Given the description of an element on the screen output the (x, y) to click on. 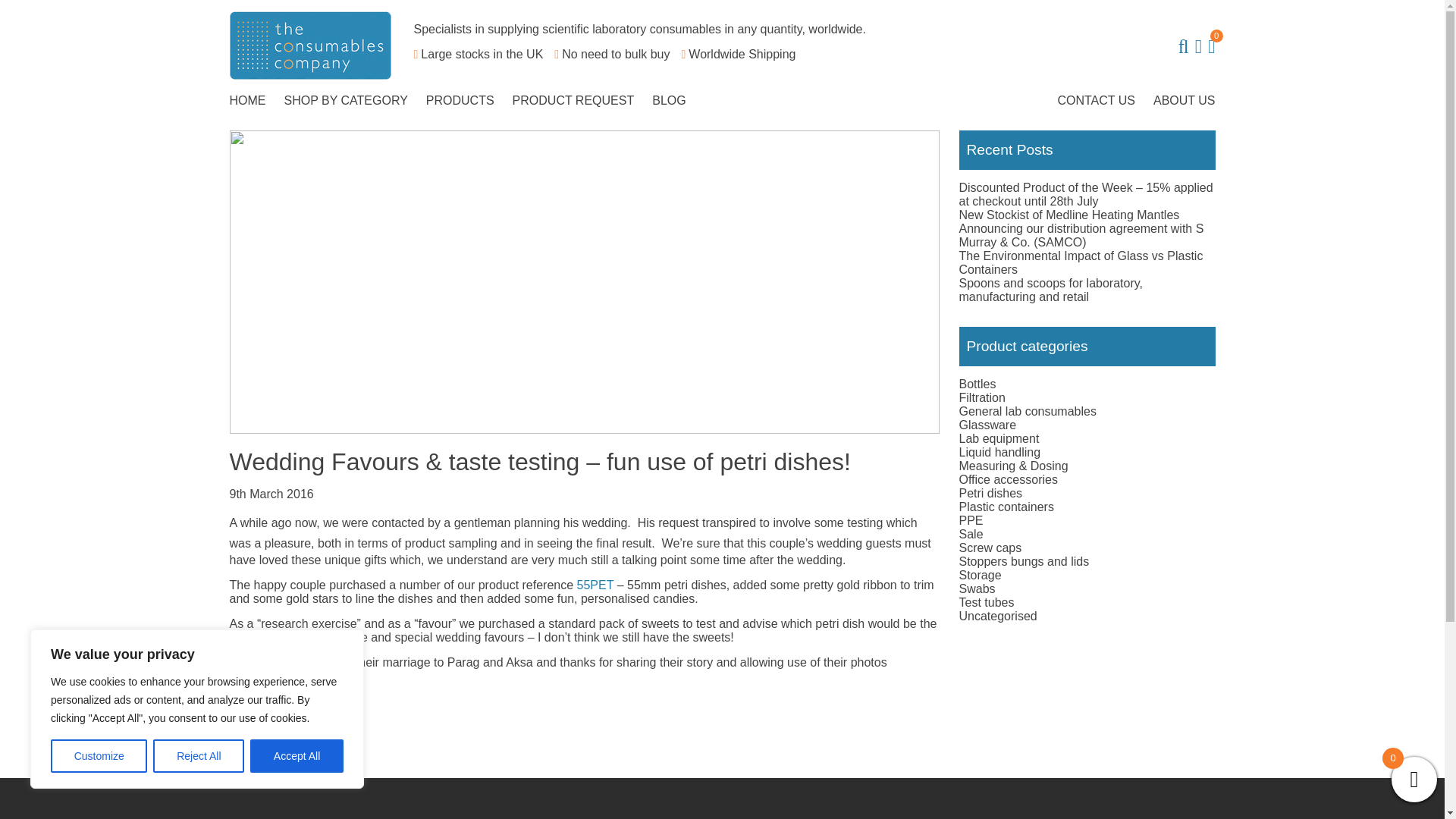
CONTACT US (1097, 100)
New Stockist of Medline Heating Mantles (1068, 214)
HOME (247, 100)
BLOG (668, 100)
The Environmental Impact of Glass vs Plastic Containers (1080, 262)
Spoons and scoops for laboratory, manufacturing and retail (1050, 289)
Filtration (981, 397)
Liquid handling (999, 451)
SHOP BY CATEGORY (345, 100)
Bottles (976, 383)
